Given the description of an element on the screen output the (x, y) to click on. 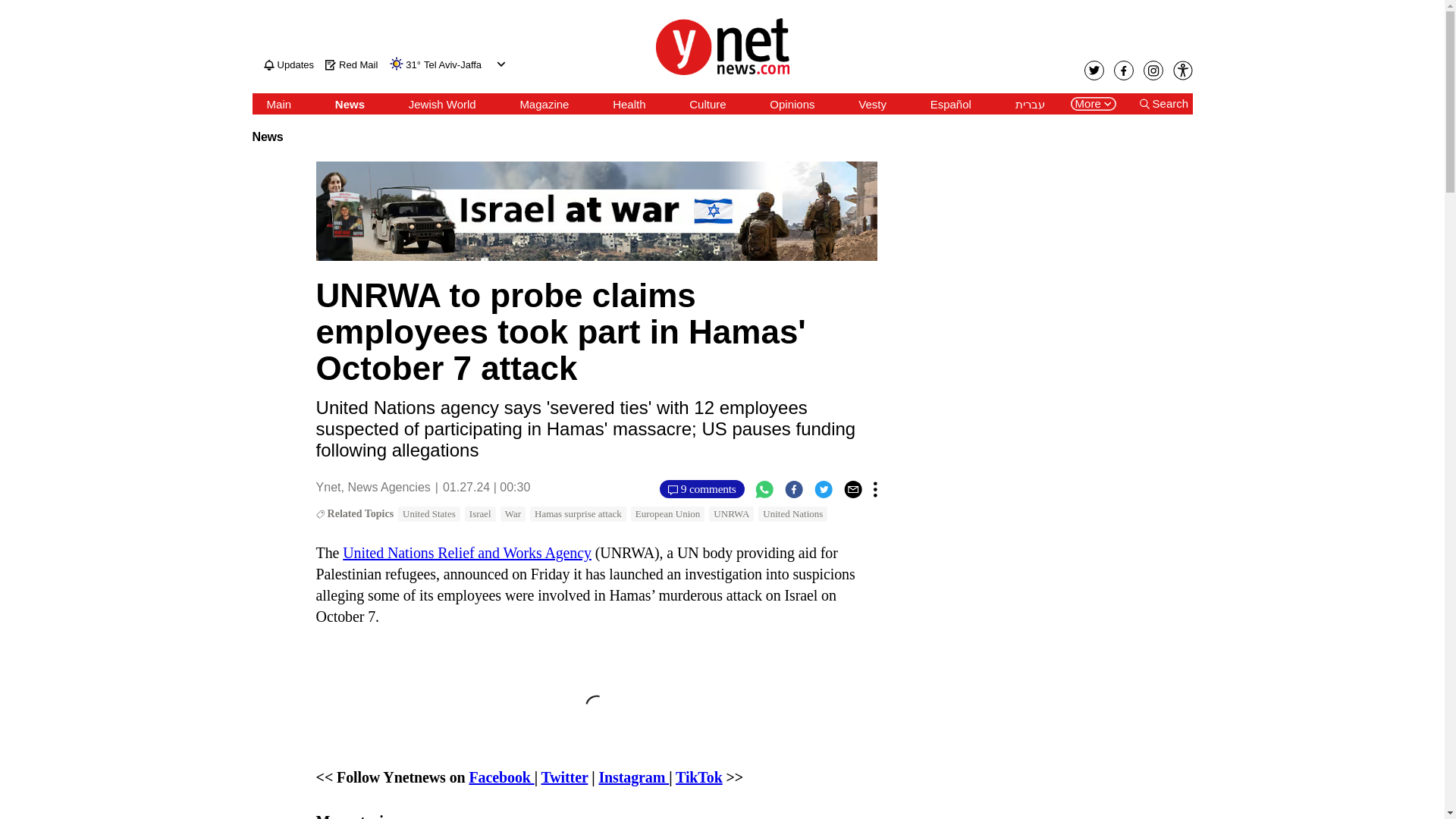
UNRWA (731, 513)
Jewish World (442, 103)
Vesty (872, 103)
Hamas surprise attack (577, 513)
News (349, 103)
Red Mail (350, 64)
European Union (667, 513)
Culture (706, 103)
United Nations (792, 513)
Opinions (791, 103)
